Given the description of an element on the screen output the (x, y) to click on. 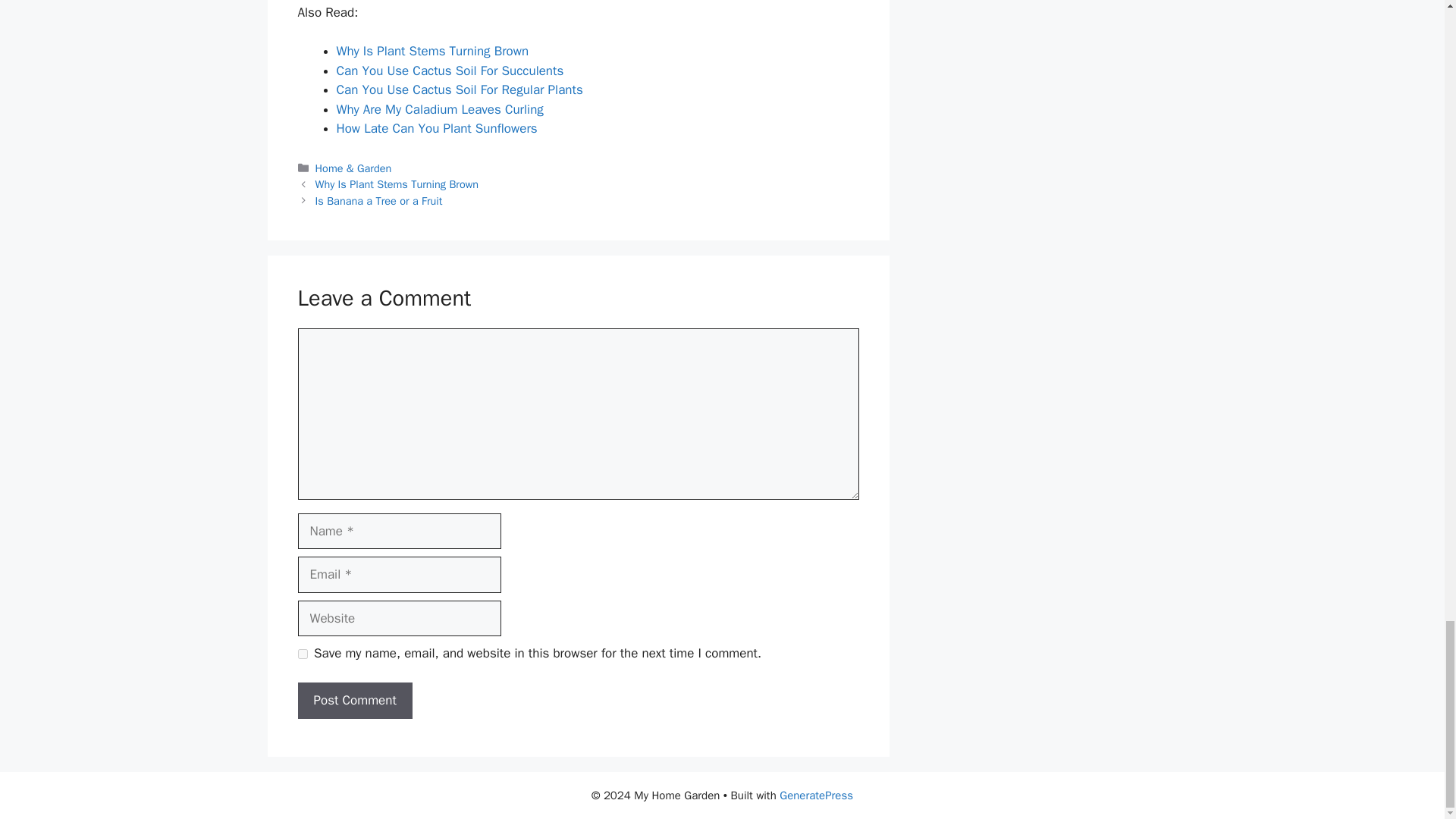
Post Comment (354, 700)
Is Banana a Tree or a Fruit (378, 201)
Why Is Plant Stems Turning Brown (397, 183)
Why Are My Caladium Leaves Curling (439, 109)
Post Comment (354, 700)
Can You Use Cactus Soil For Succulents (450, 70)
Why Is Plant Stems Turning Brown (432, 50)
yes (302, 654)
How Late Can You Plant Sunflowers (436, 128)
GeneratePress (815, 795)
Can You Use Cactus Soil For Regular Plants (459, 89)
